Given the description of an element on the screen output the (x, y) to click on. 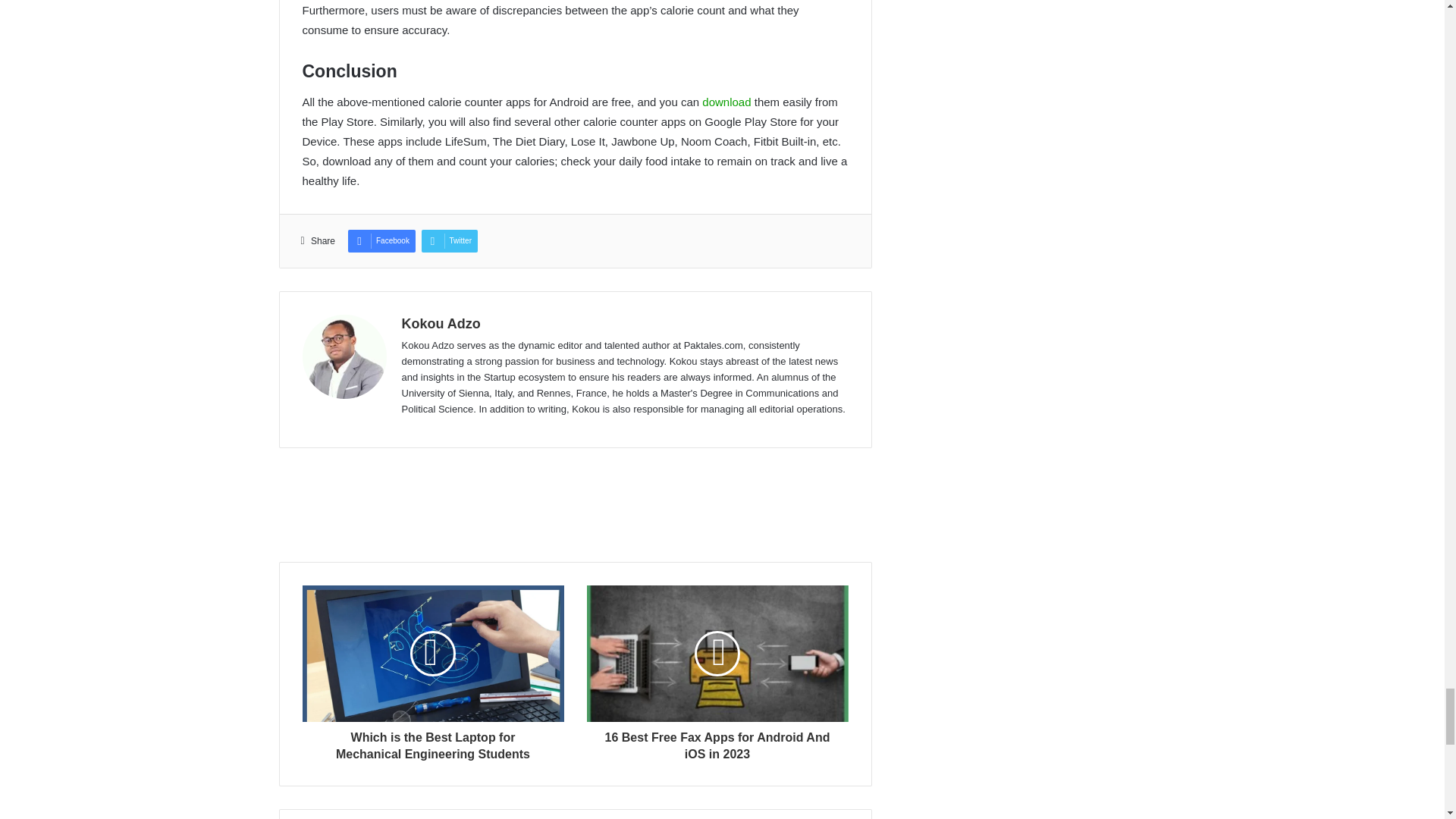
Twitter (449, 241)
Facebook (380, 241)
